Given the description of an element on the screen output the (x, y) to click on. 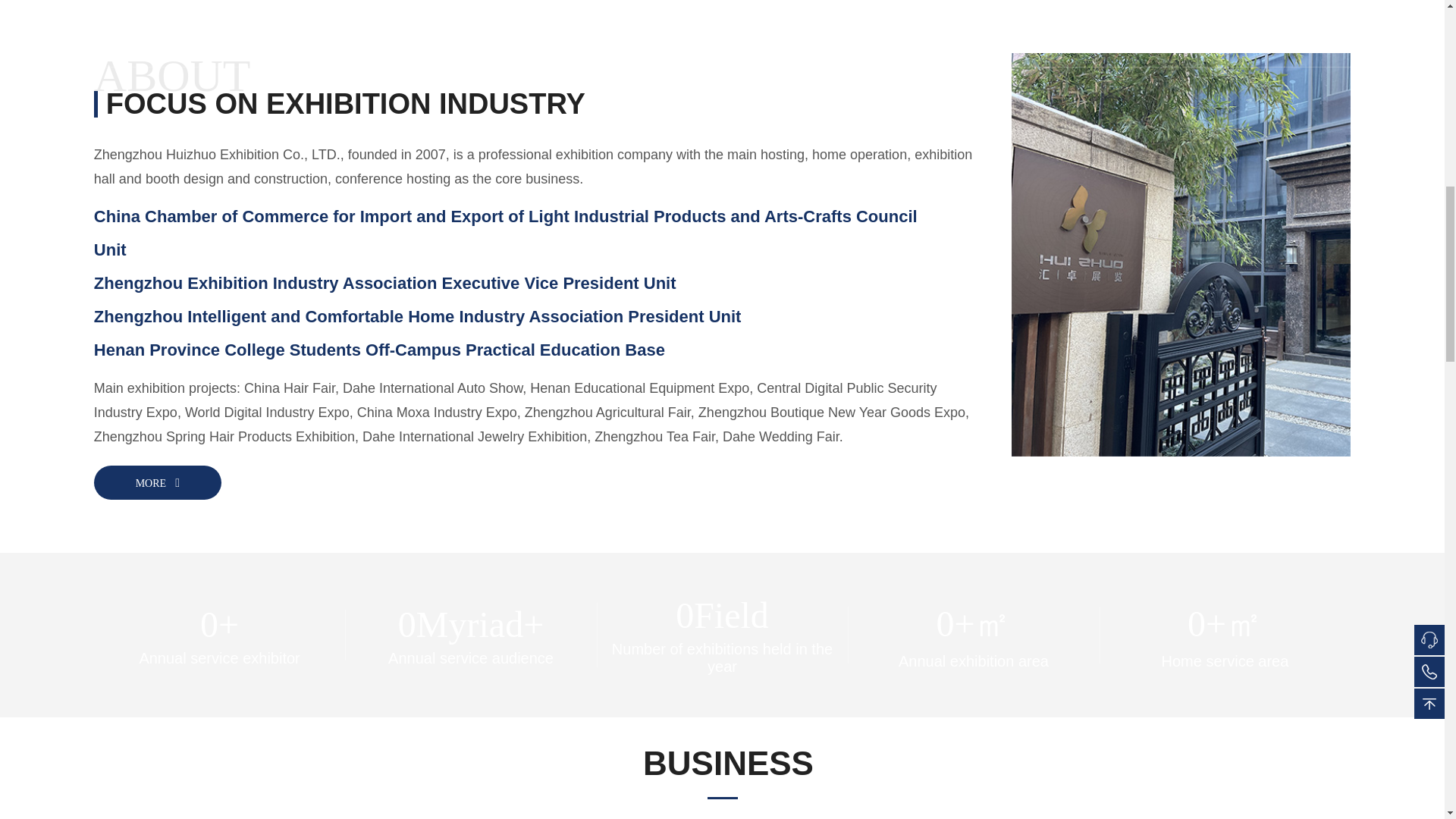
MORE (157, 482)
